Given the description of an element on the screen output the (x, y) to click on. 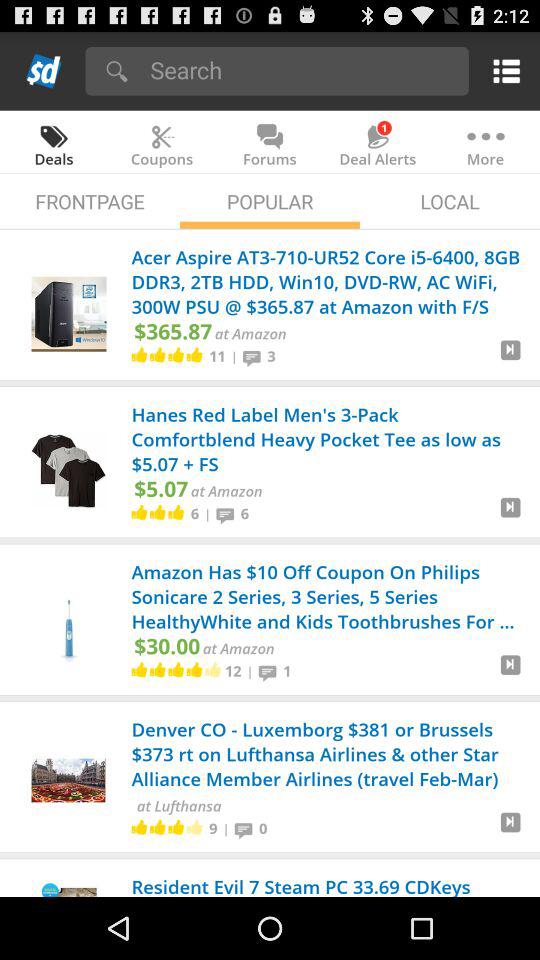
add to cart (510, 515)
